Given the description of an element on the screen output the (x, y) to click on. 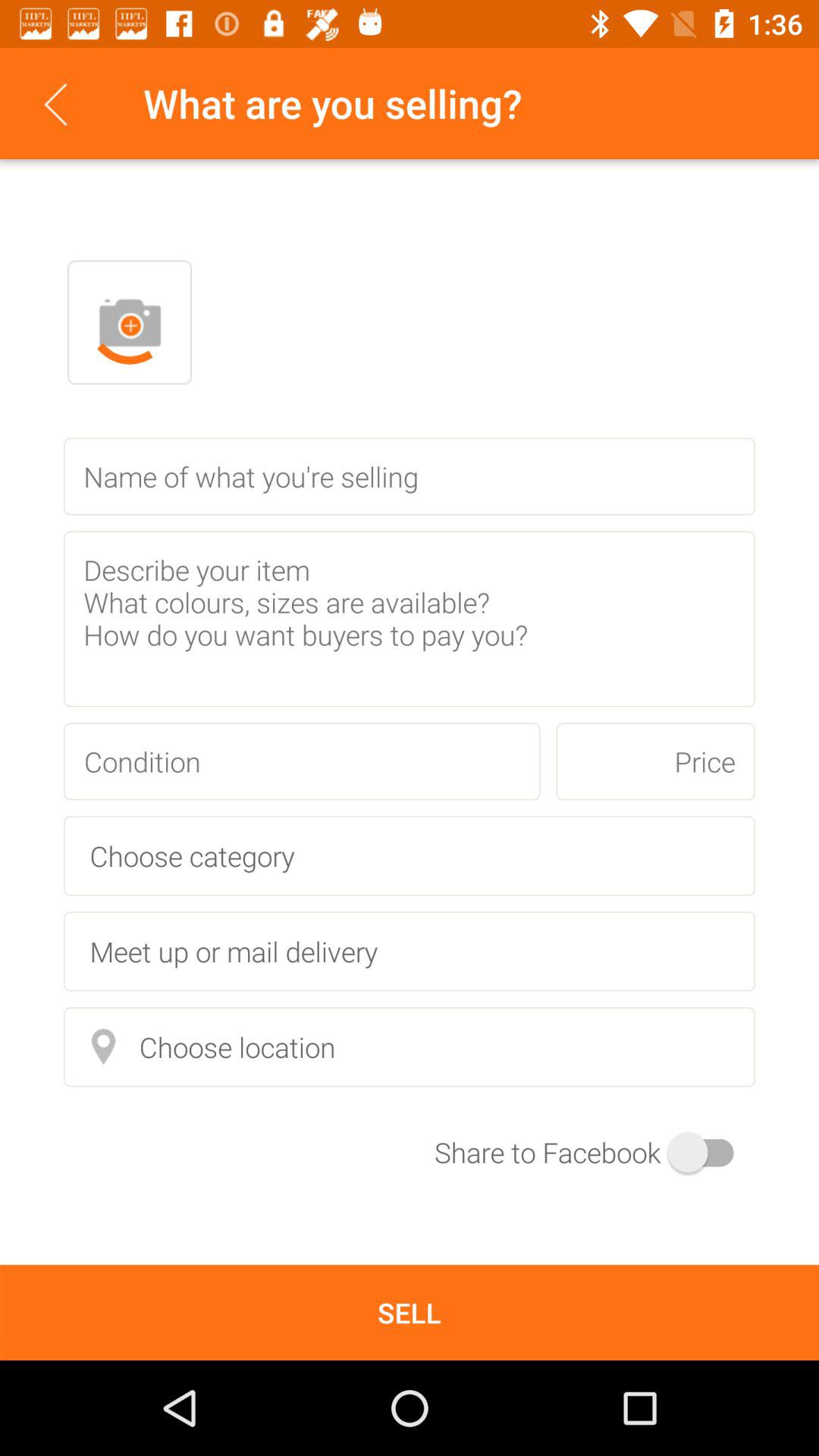
enter price (655, 761)
